Given the description of an element on the screen output the (x, y) to click on. 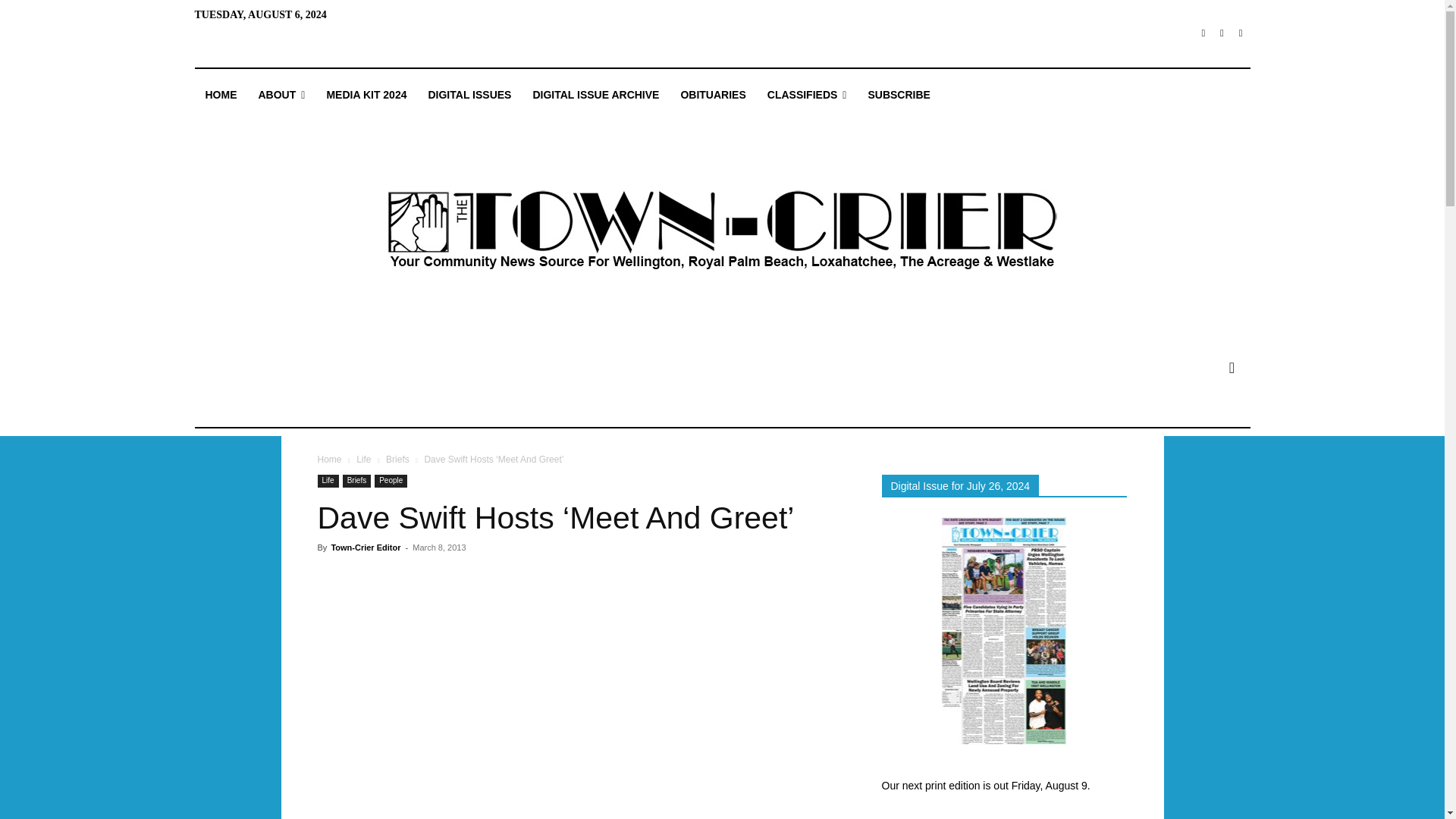
DIGITAL ISSUES (468, 94)
MEDIA KIT 2024 (365, 94)
ABOUT (281, 94)
DIGITAL ISSUE ARCHIVE (595, 94)
Twitter (1240, 33)
Town-Crier Newspaper (721, 230)
Town-Crier Newspaper (721, 230)
View all posts in Life (363, 459)
HOME (220, 94)
CLASSIFIEDS (807, 94)
SUBSCRIBE (898, 94)
Instagram (1221, 33)
Facebook (1202, 33)
OBITUARIES (712, 94)
